Given the description of an element on the screen output the (x, y) to click on. 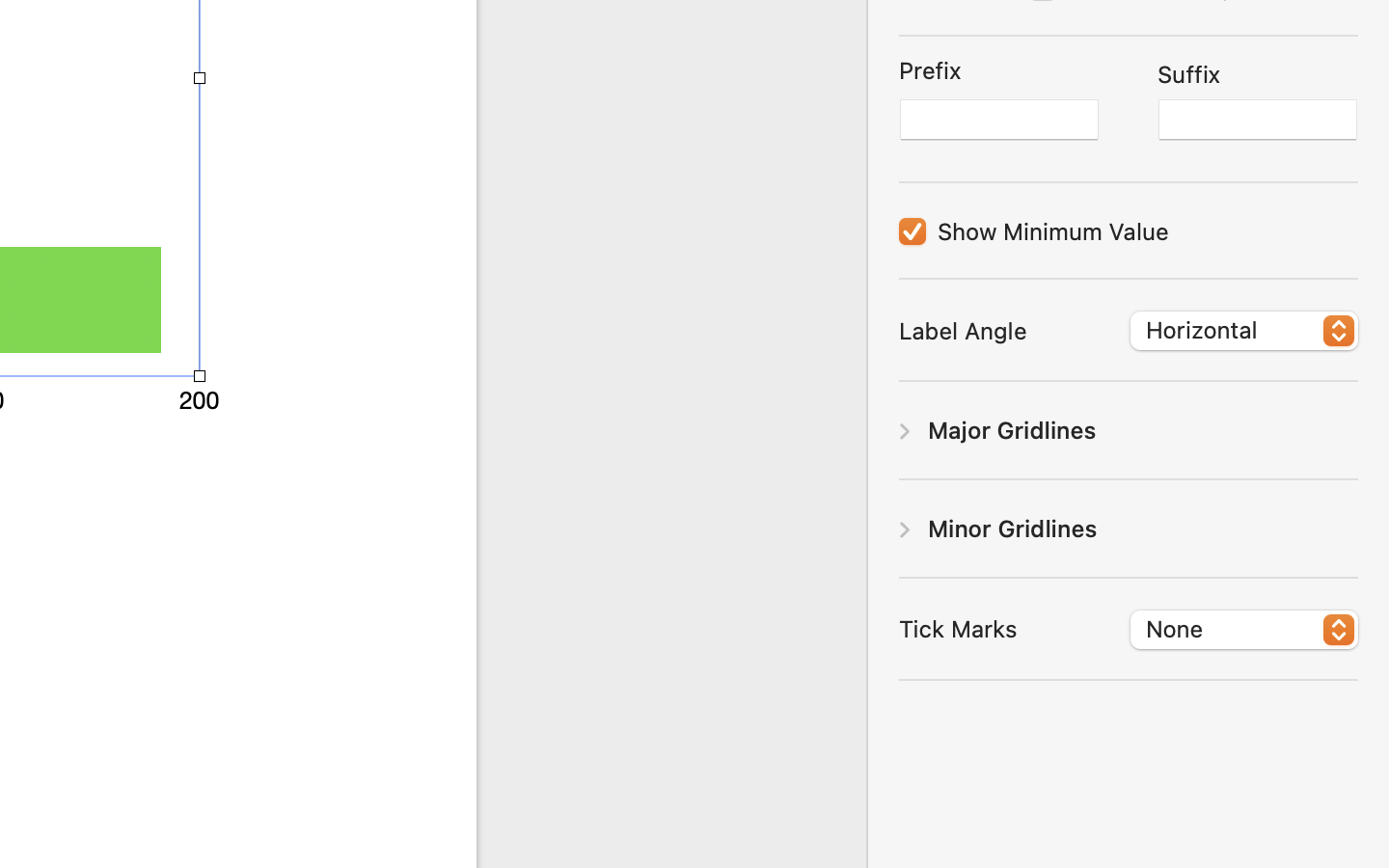
Horizontal Element type: AXPopUpButton (1244, 332)
Minor Gridlines Element type: AXStaticText (1012, 527)
Prefix Element type: AXStaticText (929, 71)
Suffix Element type: AXStaticText (1189, 73)
Major Gridlines Element type: AXStaticText (1011, 428)
